Given the description of an element on the screen output the (x, y) to click on. 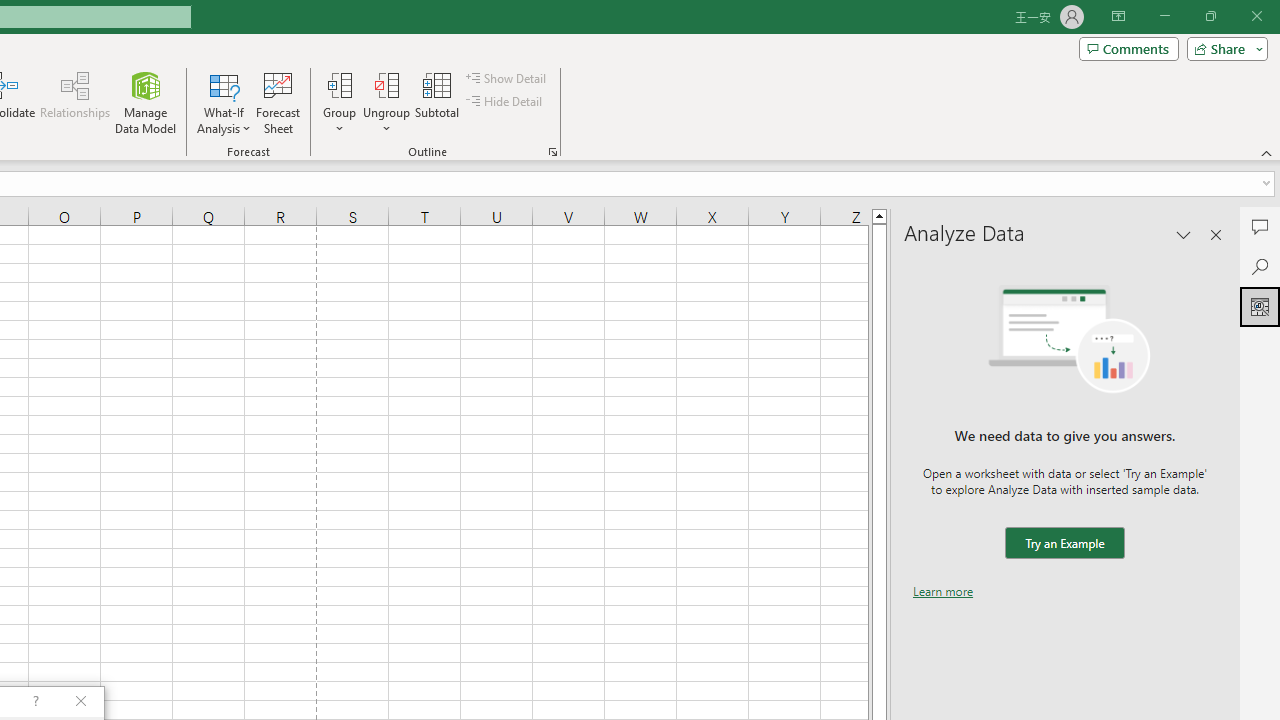
Close (1256, 16)
Minimize (1164, 16)
Task Pane Options (1183, 234)
Search (1260, 266)
Show Detail (507, 78)
Hide Detail (505, 101)
Subtotal (437, 102)
Group... (339, 84)
Ungroup... (386, 102)
Group and Outline Settings (552, 151)
Relationships (75, 102)
Restore Down (1210, 16)
Collapse the Ribbon (1267, 152)
Comments (1260, 226)
